Given the description of an element on the screen output the (x, y) to click on. 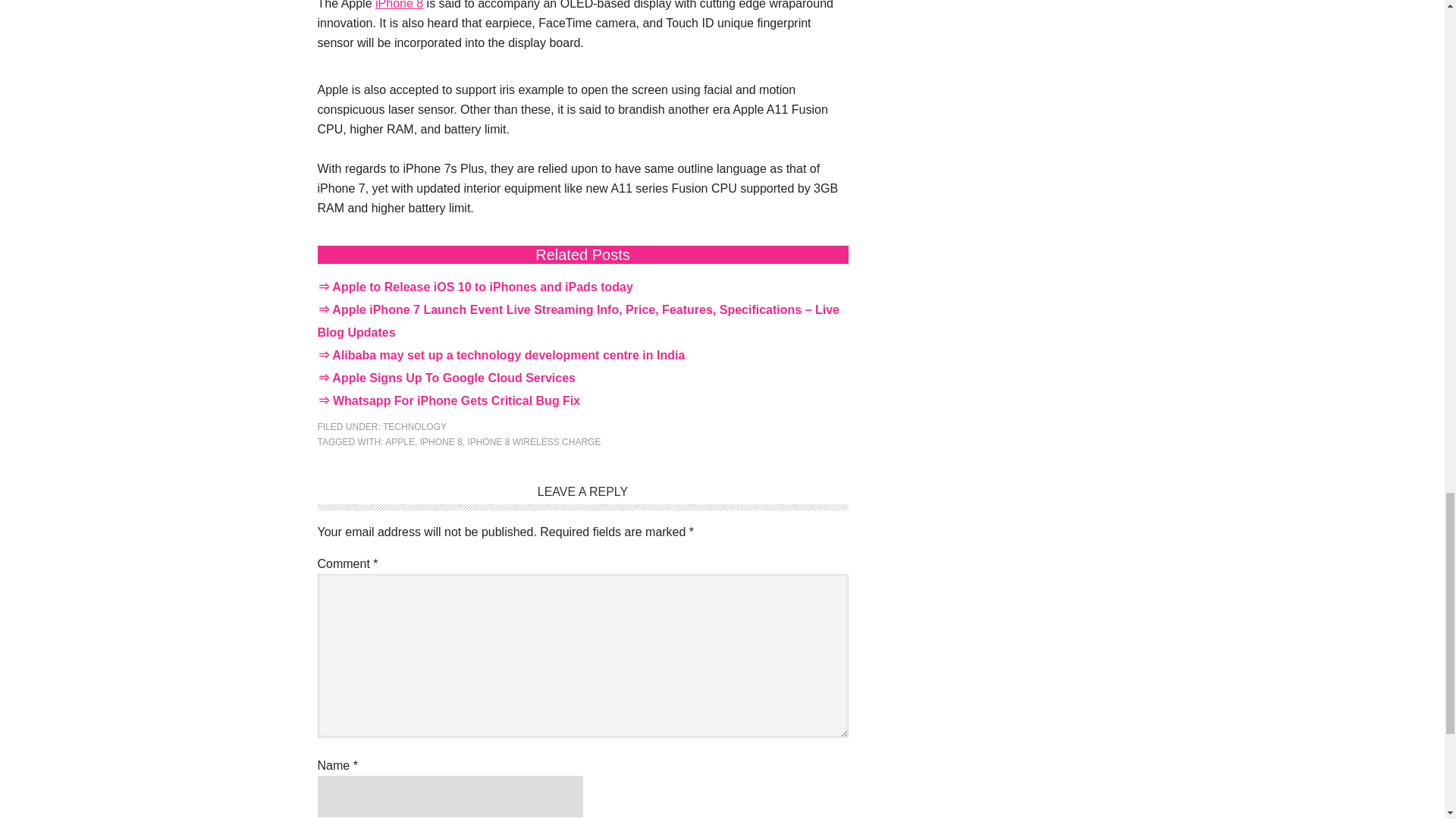
Permanent Link toWhatsapp For iPhone Gets Critical Bug Fix (456, 400)
Permanent Link toApple Signs Up To Google Cloud Services (453, 377)
IPHONE 8 WIRELESS CHARGE (533, 441)
Alibaba may set up a technology development centre in India (507, 354)
Apple to Release iOS 10 to iPhones and iPads today (482, 286)
IPHONE 8 (441, 441)
Apple Signs Up To Google Cloud Services (453, 377)
APPLE (399, 441)
